Given the description of an element on the screen output the (x, y) to click on. 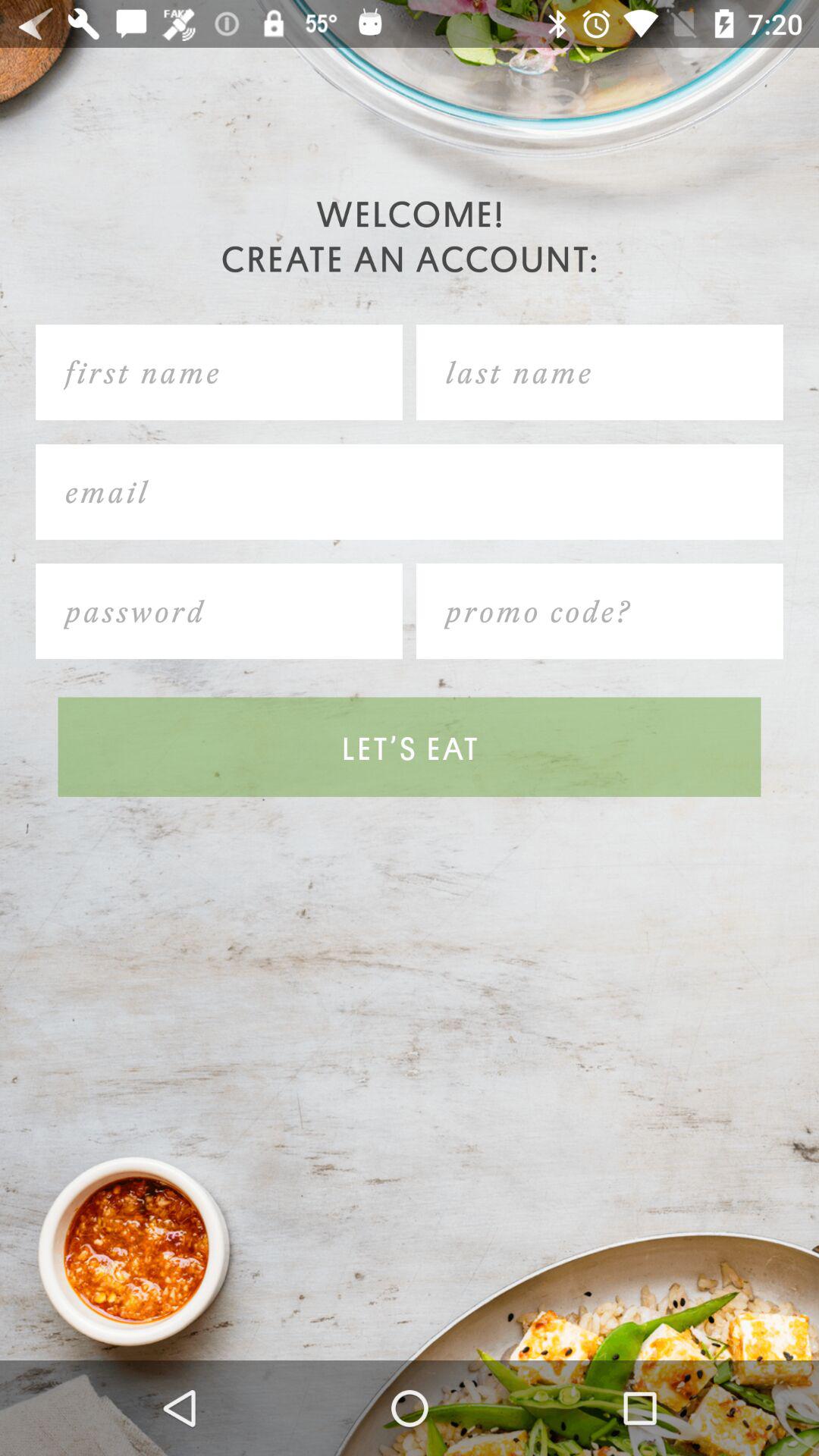
enter promo code (599, 611)
